Given the description of an element on the screen output the (x, y) to click on. 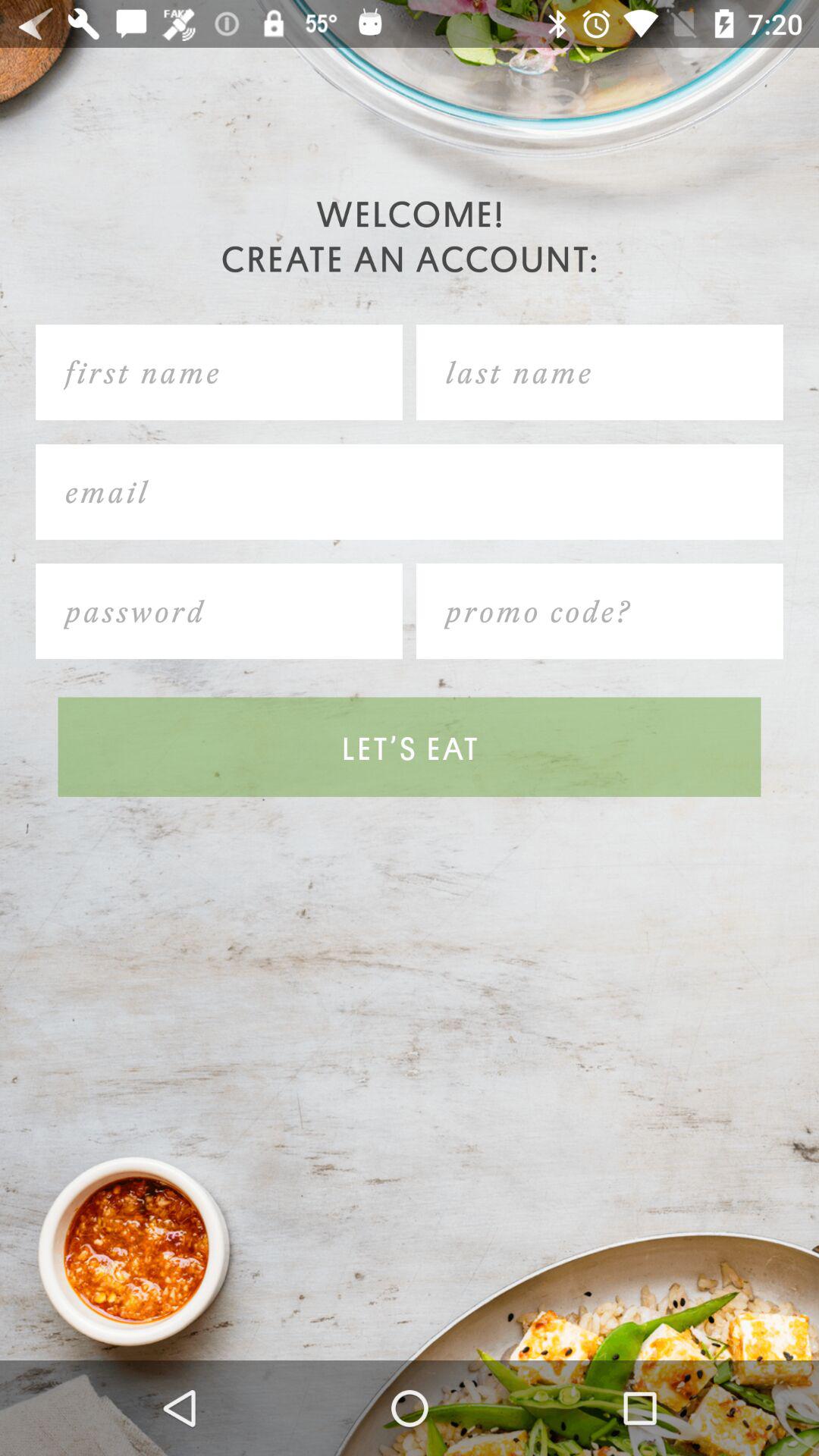
enter promo code (599, 611)
